Given the description of an element on the screen output the (x, y) to click on. 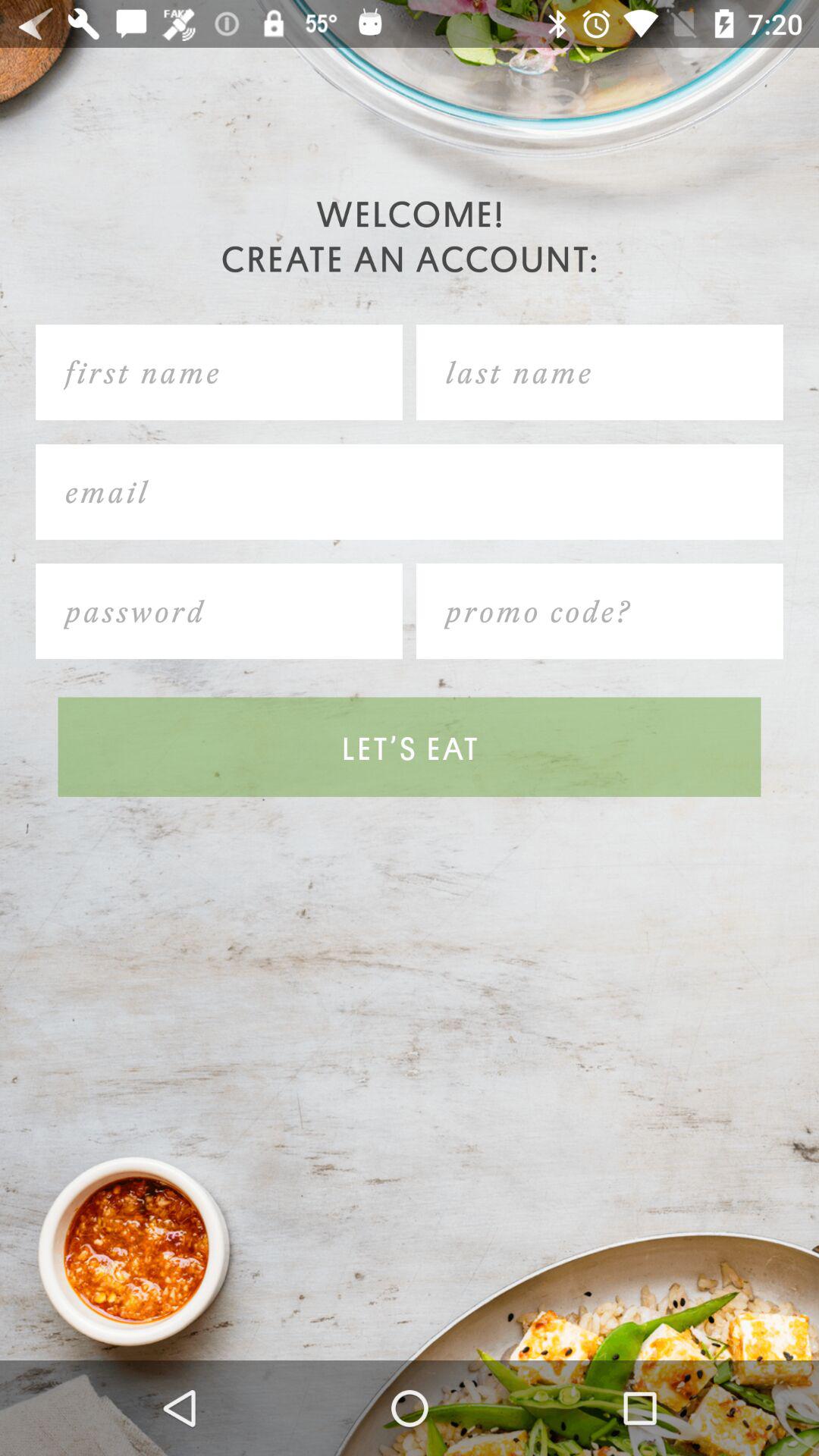
enter promo code (599, 611)
